Given the description of an element on the screen output the (x, y) to click on. 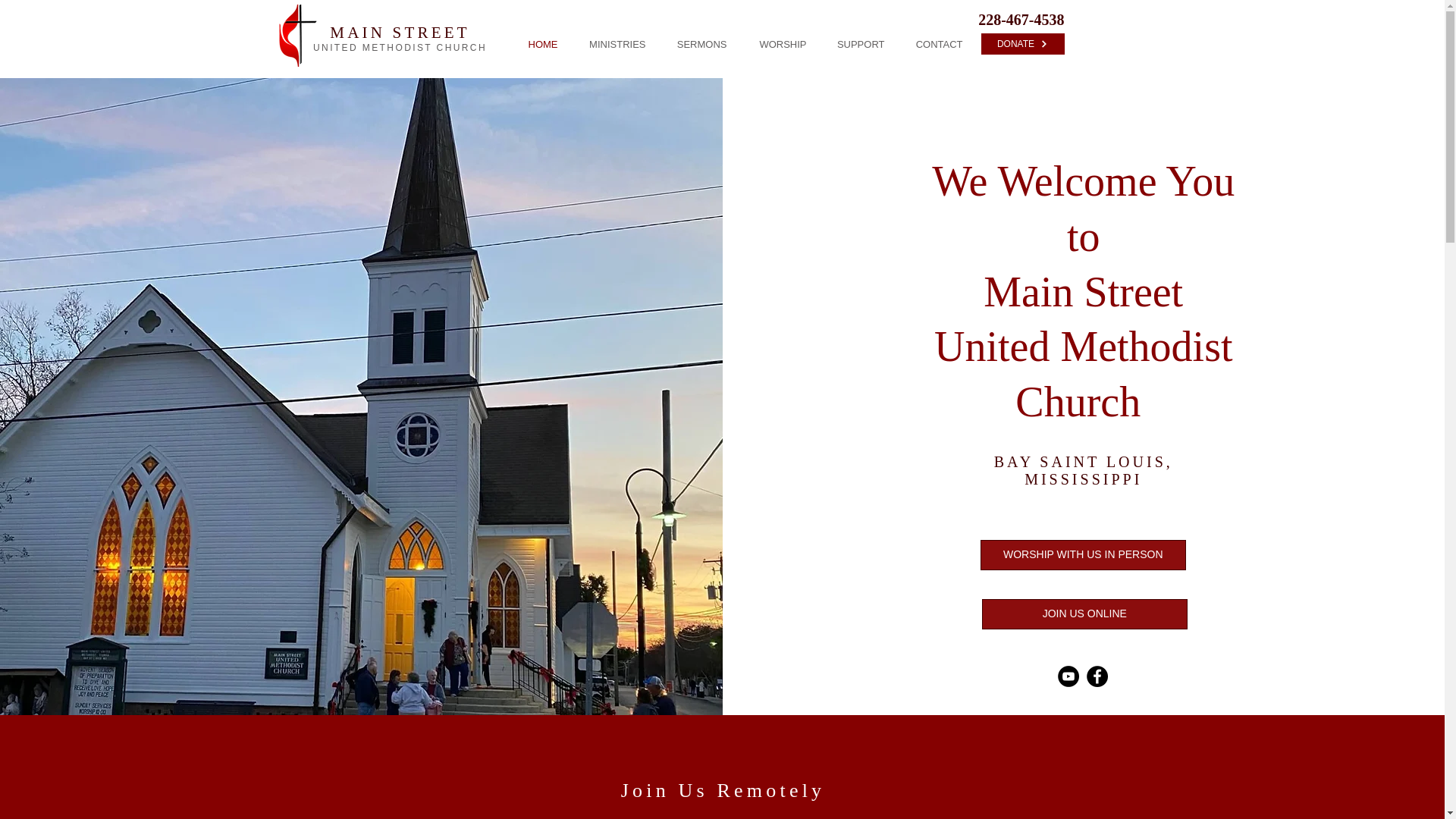
SERMONS (697, 44)
MAIN STREET (399, 32)
HOME (537, 44)
JOIN US ONLINE (1084, 613)
SUPPORT (855, 44)
MINISTRIES (612, 44)
CONTACT (935, 44)
WORSHIP (778, 44)
WORSHIP WITH US IN PERSON (1082, 554)
DONATE (1022, 43)
